Given the description of an element on the screen output the (x, y) to click on. 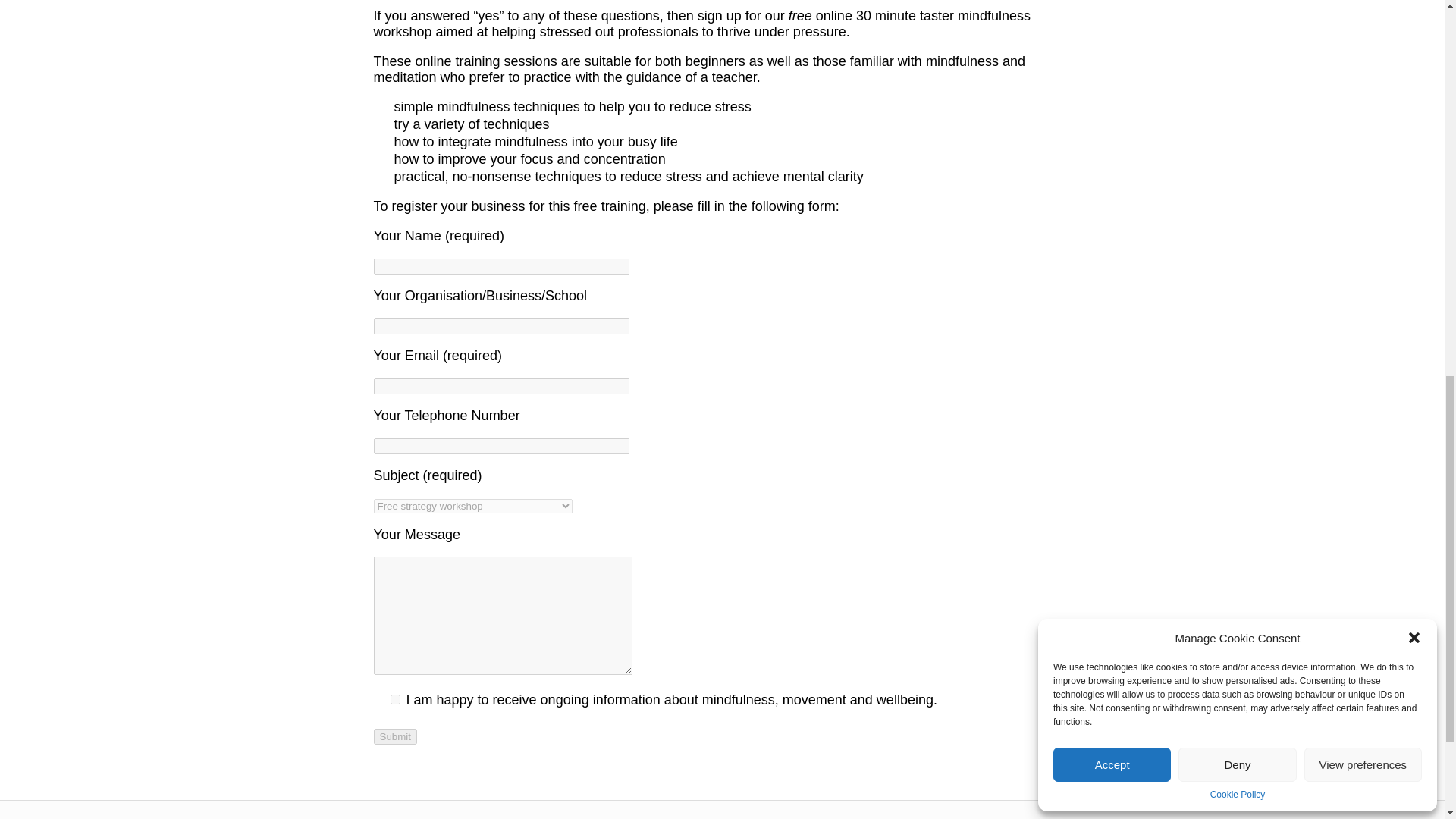
Submit (394, 735)
Submit (394, 735)
